Given the description of an element on the screen output the (x, y) to click on. 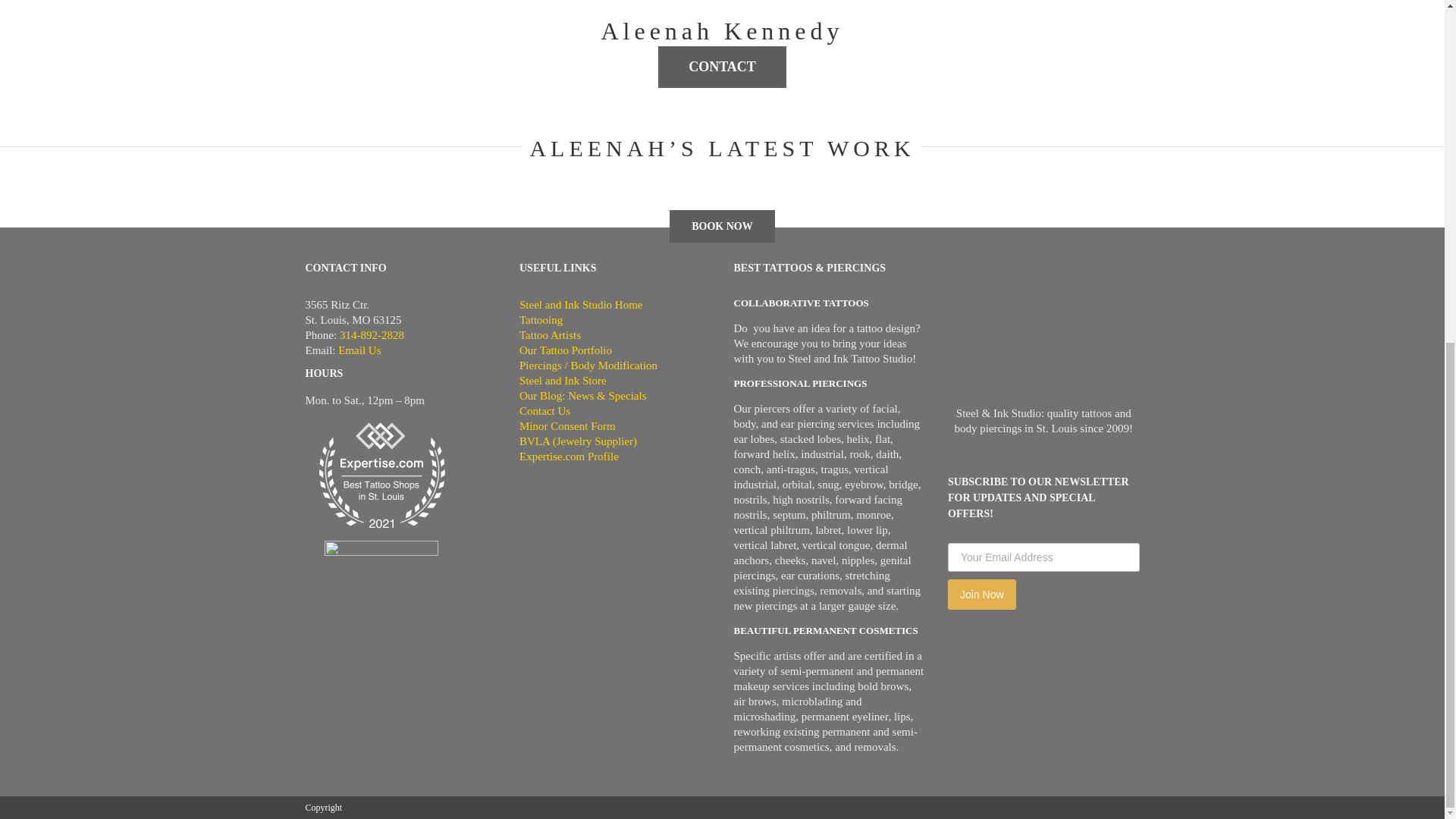
Email Us (358, 349)
Our Tattoo Portfolio (615, 350)
314-892-2828 (371, 335)
Tattooing (615, 319)
Steel and Ink Studio Home (615, 304)
Tattoo Artists (615, 335)
CONTACT (722, 66)
BOOK NOW (721, 225)
